Given the description of an element on the screen output the (x, y) to click on. 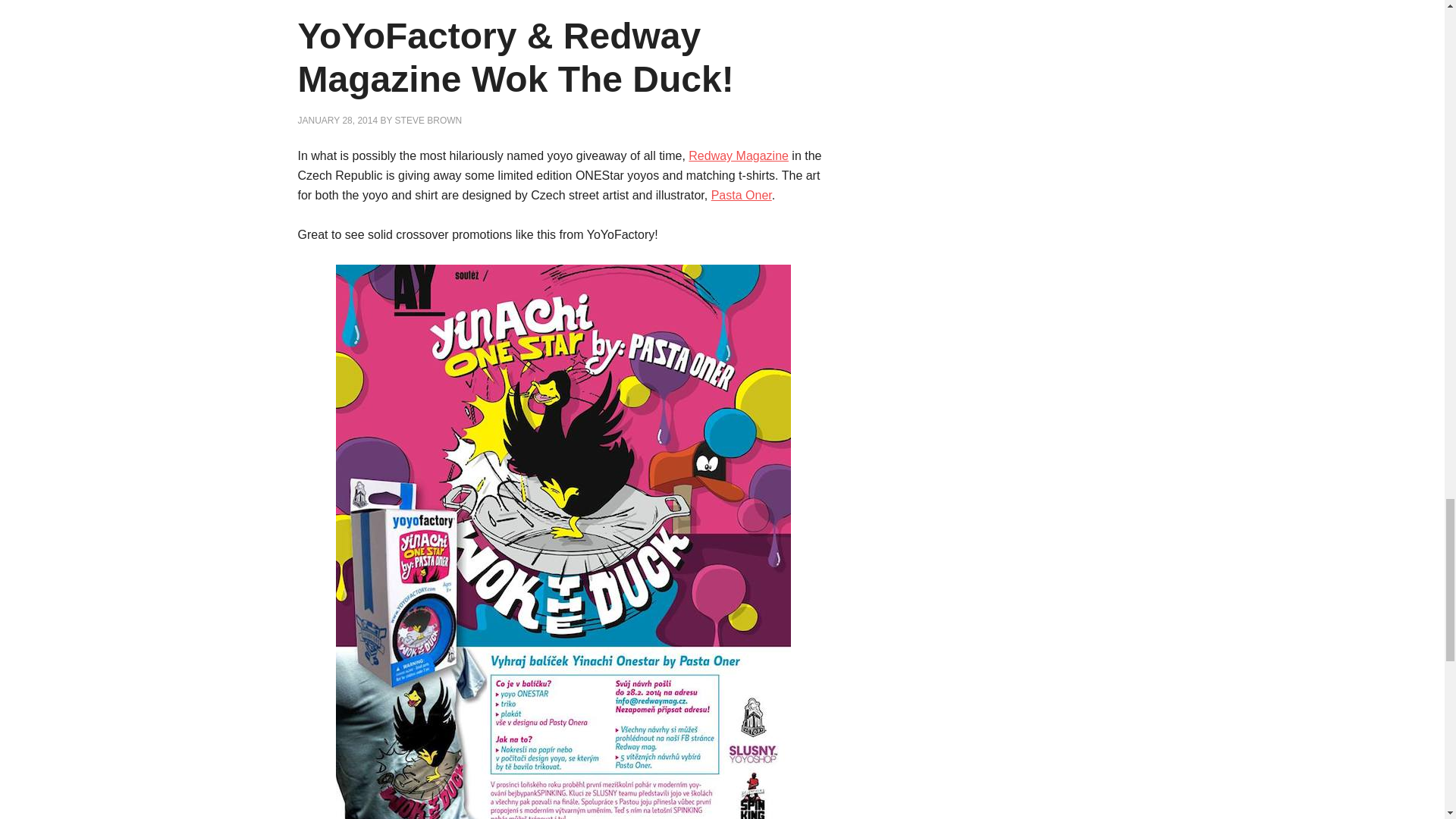
Pasta Oner (741, 195)
Redway Magazine - Czech Republic (738, 155)
